Given the description of an element on the screen output the (x, y) to click on. 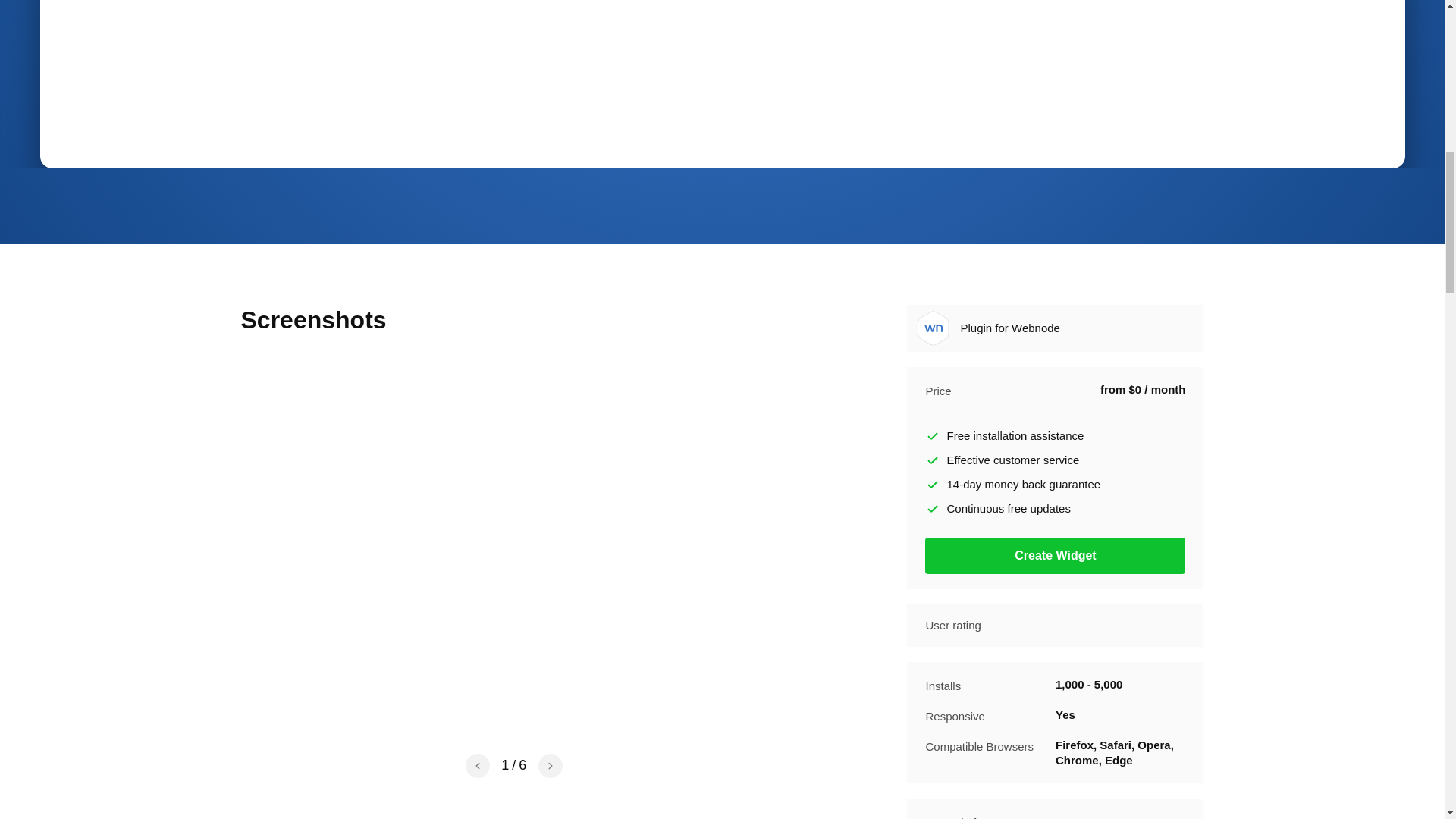
Plugin for Webnode (933, 328)
